Given the description of an element on the screen output the (x, y) to click on. 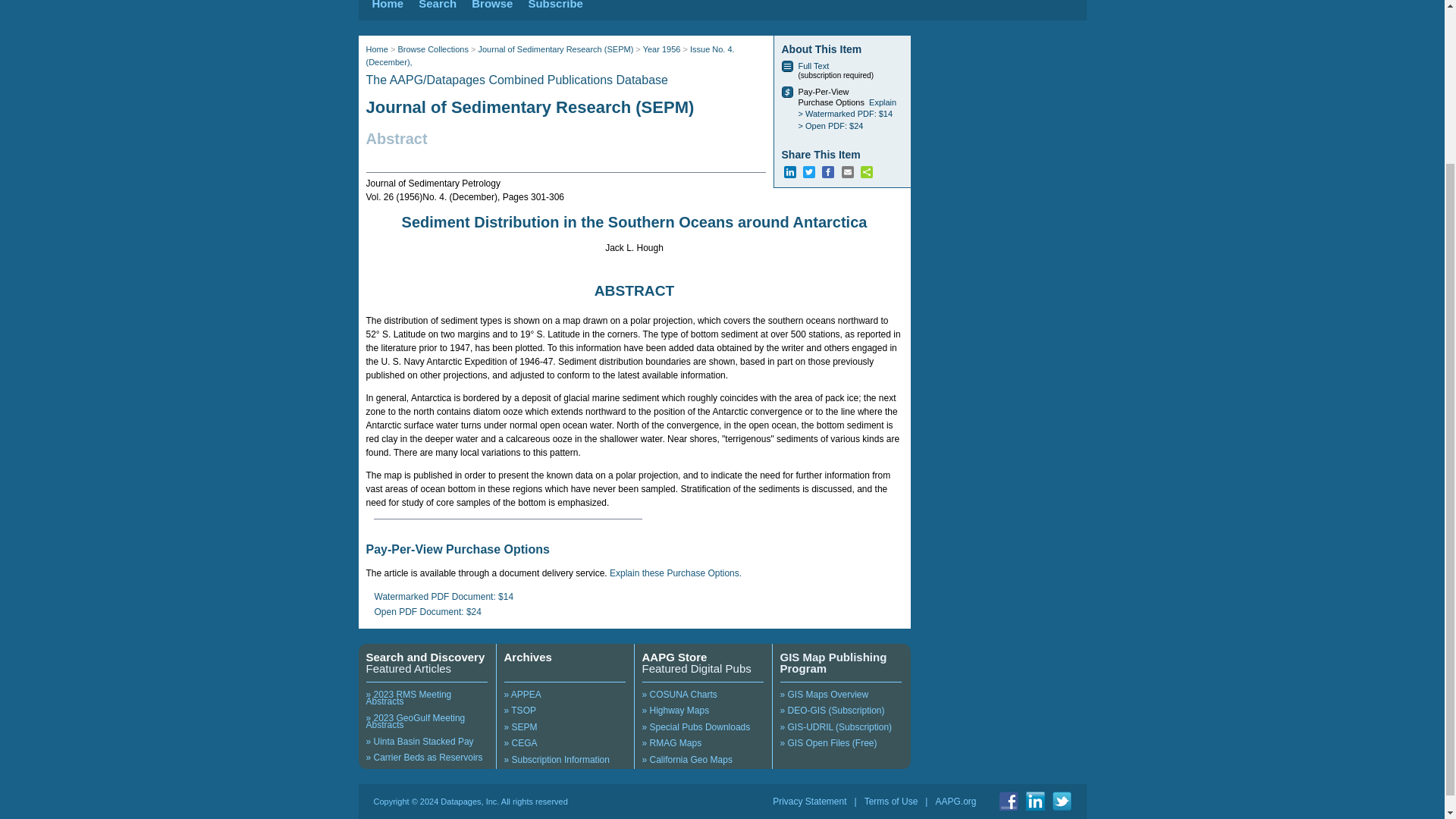
Subscribe (555, 4)
Browse (491, 4)
Search (438, 4)
Home (387, 4)
